Given the description of an element on the screen output the (x, y) to click on. 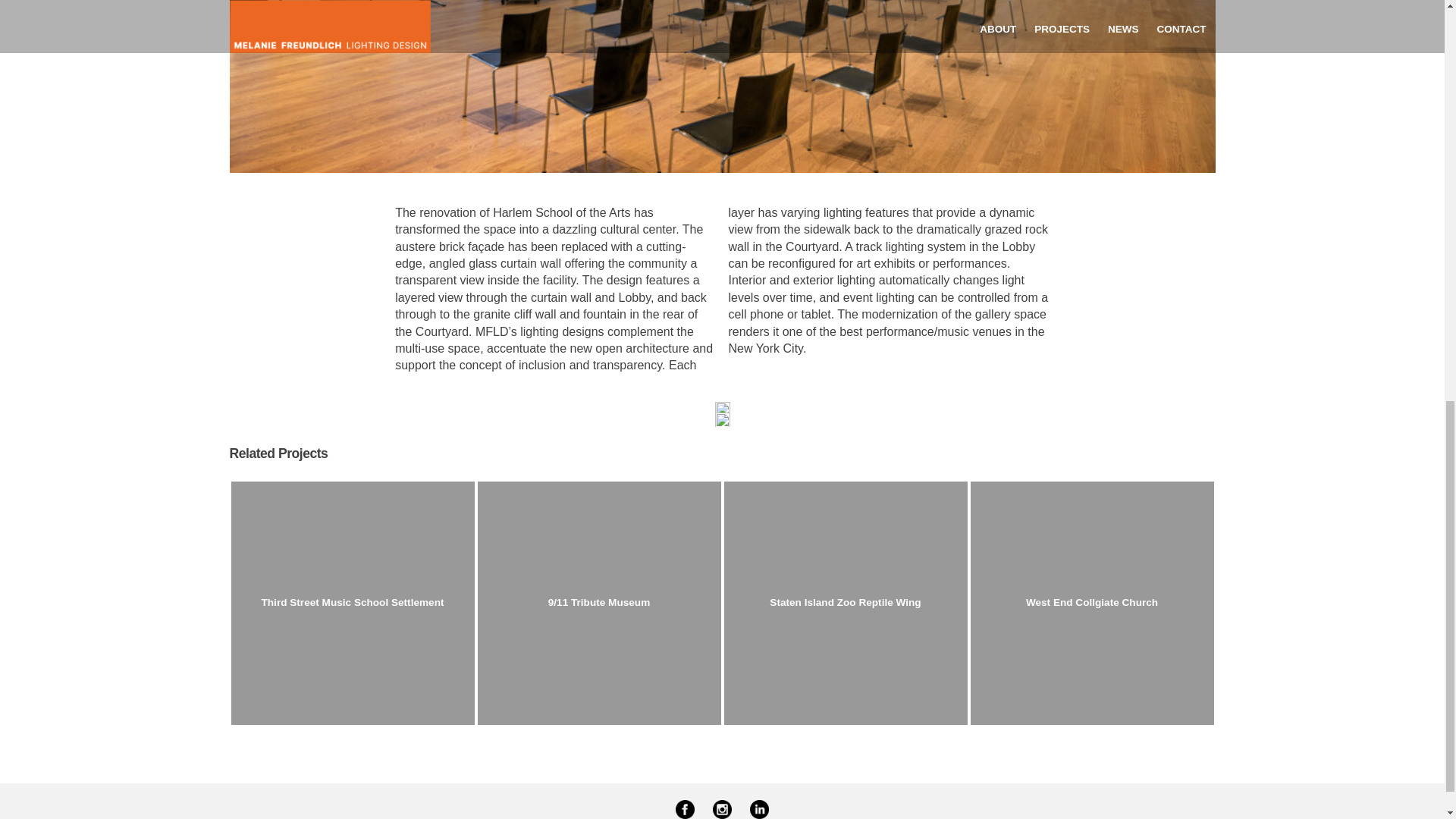
West End Collgiate Church (1092, 603)
Third Street Music School Settlement (352, 603)
Staten Island Zoo Reptile Wing (845, 603)
